Given the description of an element on the screen output the (x, y) to click on. 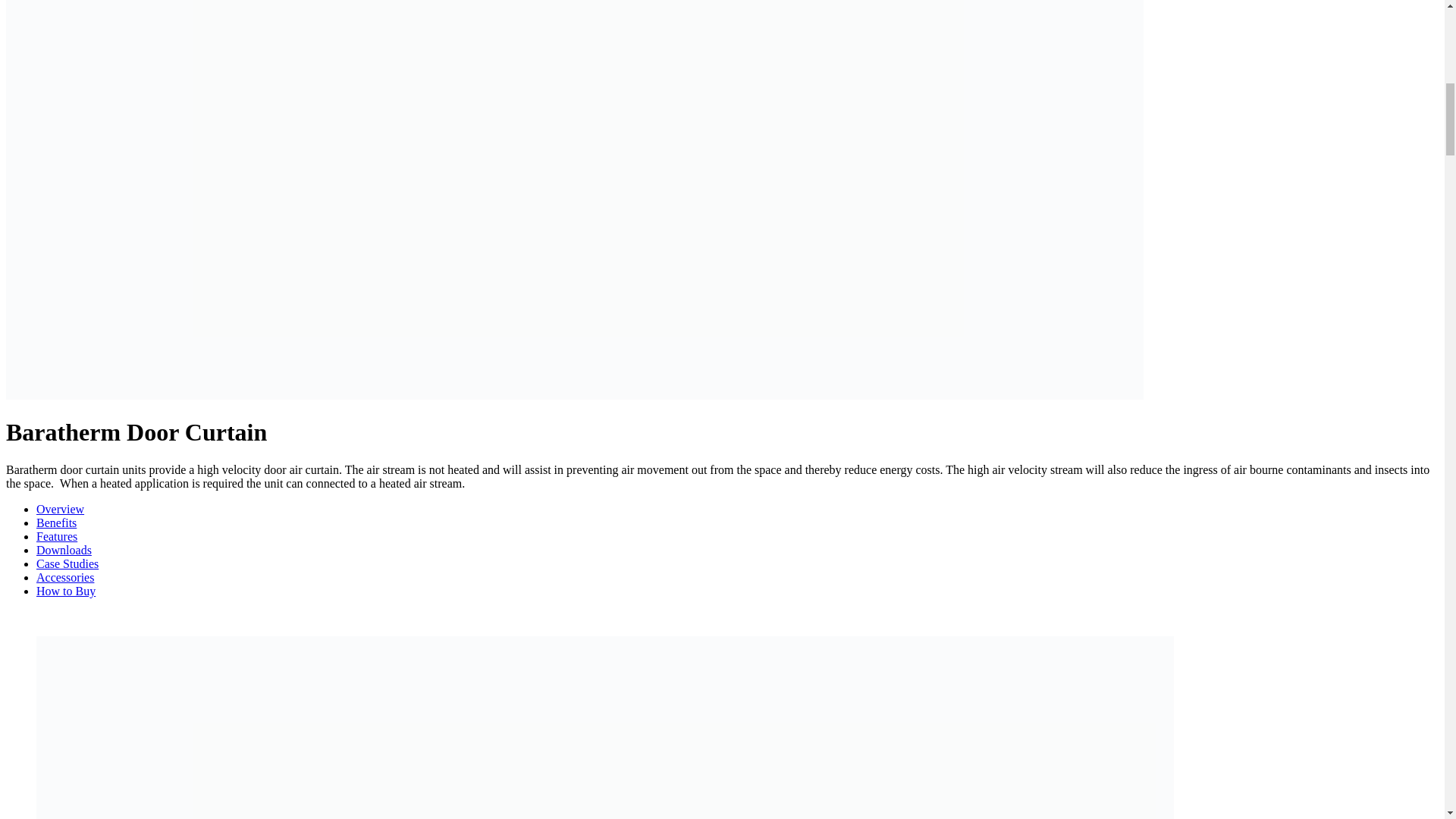
How to Buy (66, 590)
Downloads (63, 549)
Accessories (65, 576)
Case Studies (67, 563)
Features (56, 535)
Overview (60, 508)
Benefits (56, 522)
